Given the description of an element on the screen output the (x, y) to click on. 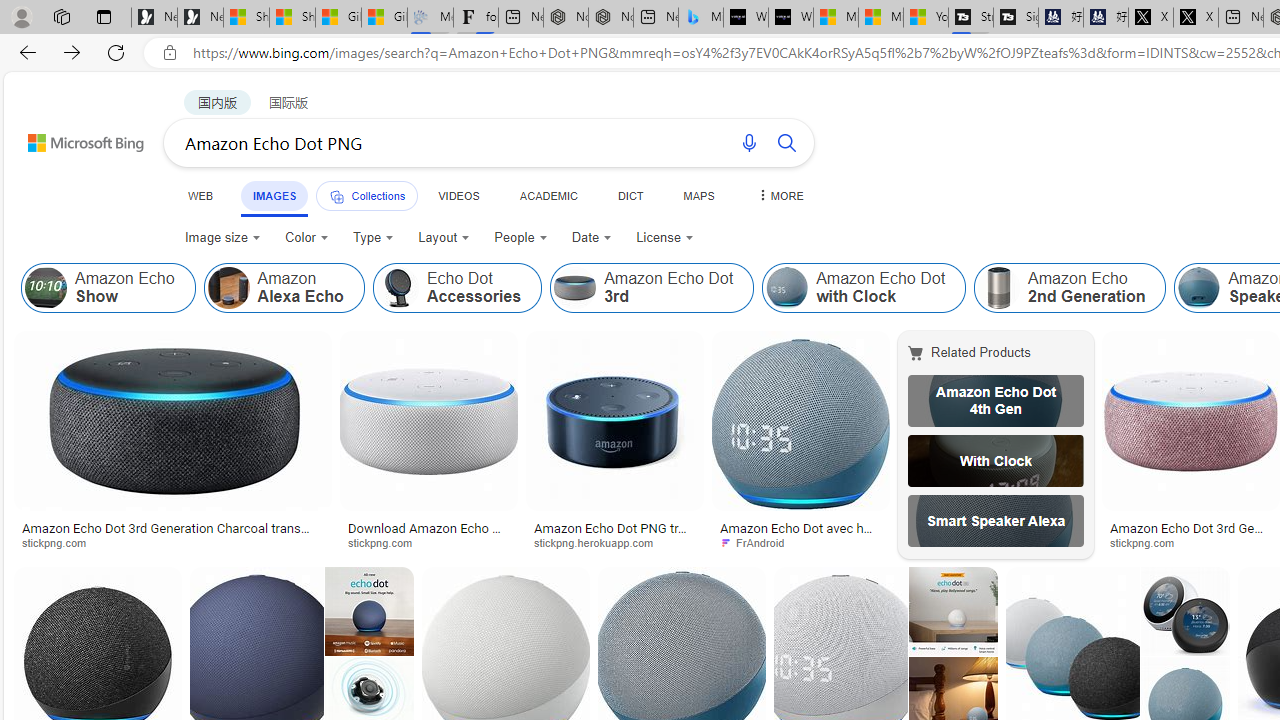
DICT (630, 195)
stickpng.com (1190, 542)
ACADEMIC (548, 195)
Amazon Echo 2nd Generation (1070, 287)
VIDEOS (458, 195)
Shanghai, China weather forecast | Microsoft Weather (292, 17)
Date (591, 237)
Amazon Echo Dot PNG transparente - StickPNG (615, 534)
Image size (222, 237)
